Given the description of an element on the screen output the (x, y) to click on. 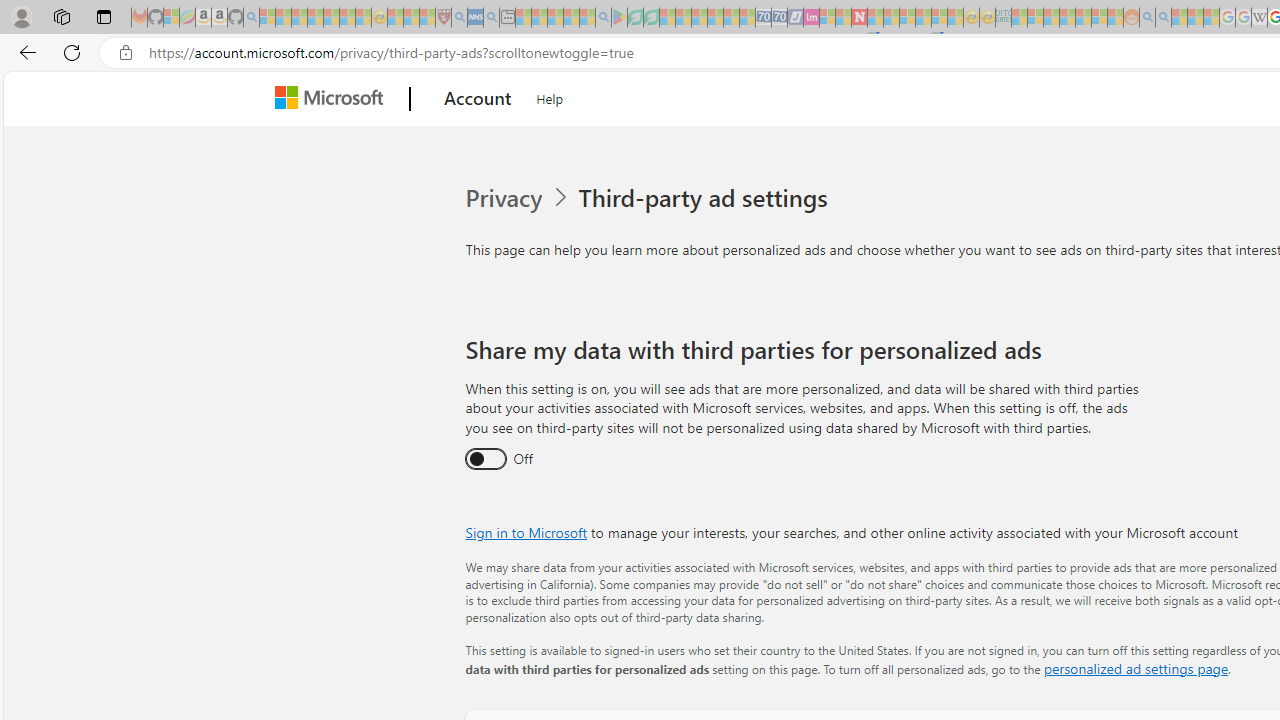
Third-party ad settings (706, 197)
Account (477, 99)
